Given the description of an element on the screen output the (x, y) to click on. 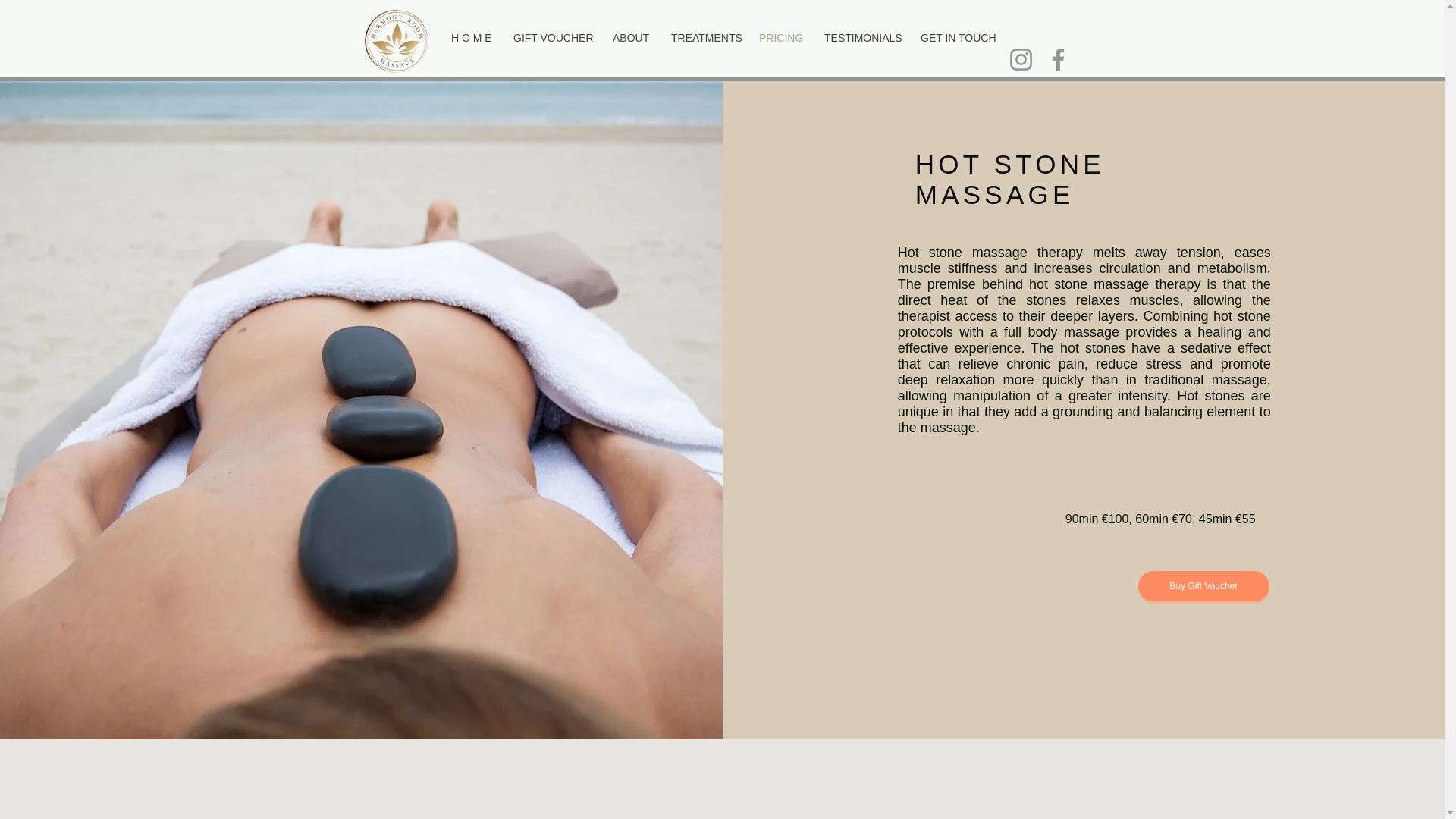
Buy Gift Voucher (1203, 585)
PRICING (780, 38)
GIFT VOUCHER (551, 38)
TREATMENTS (703, 38)
H O M E (470, 38)
GET IN TOUCH (956, 38)
TESTIMONIALS (860, 38)
ABOUT (630, 38)
